Given the description of an element on the screen output the (x, y) to click on. 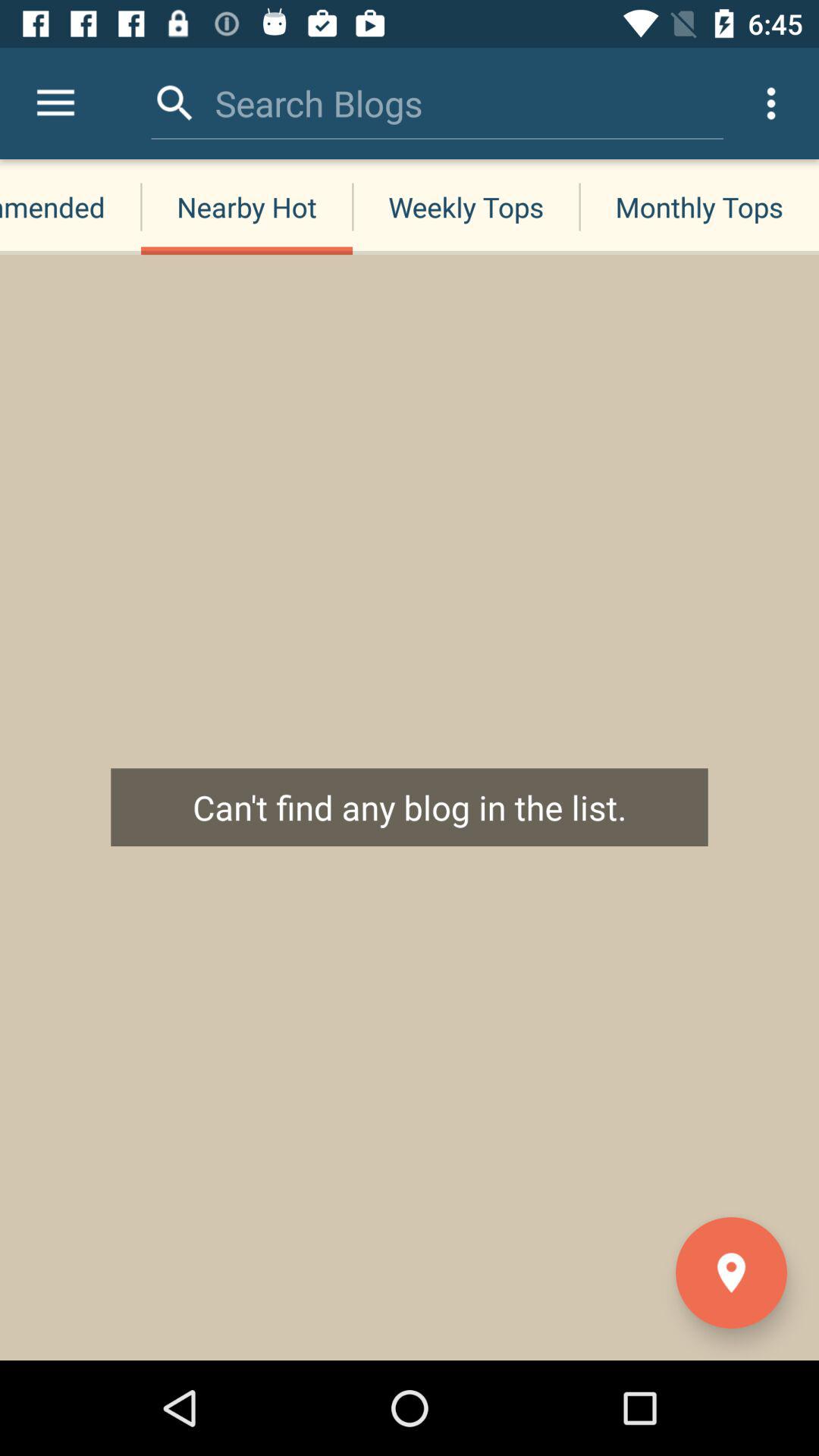
choose item below search blogs item (246, 206)
